Given the description of an element on the screen output the (x, y) to click on. 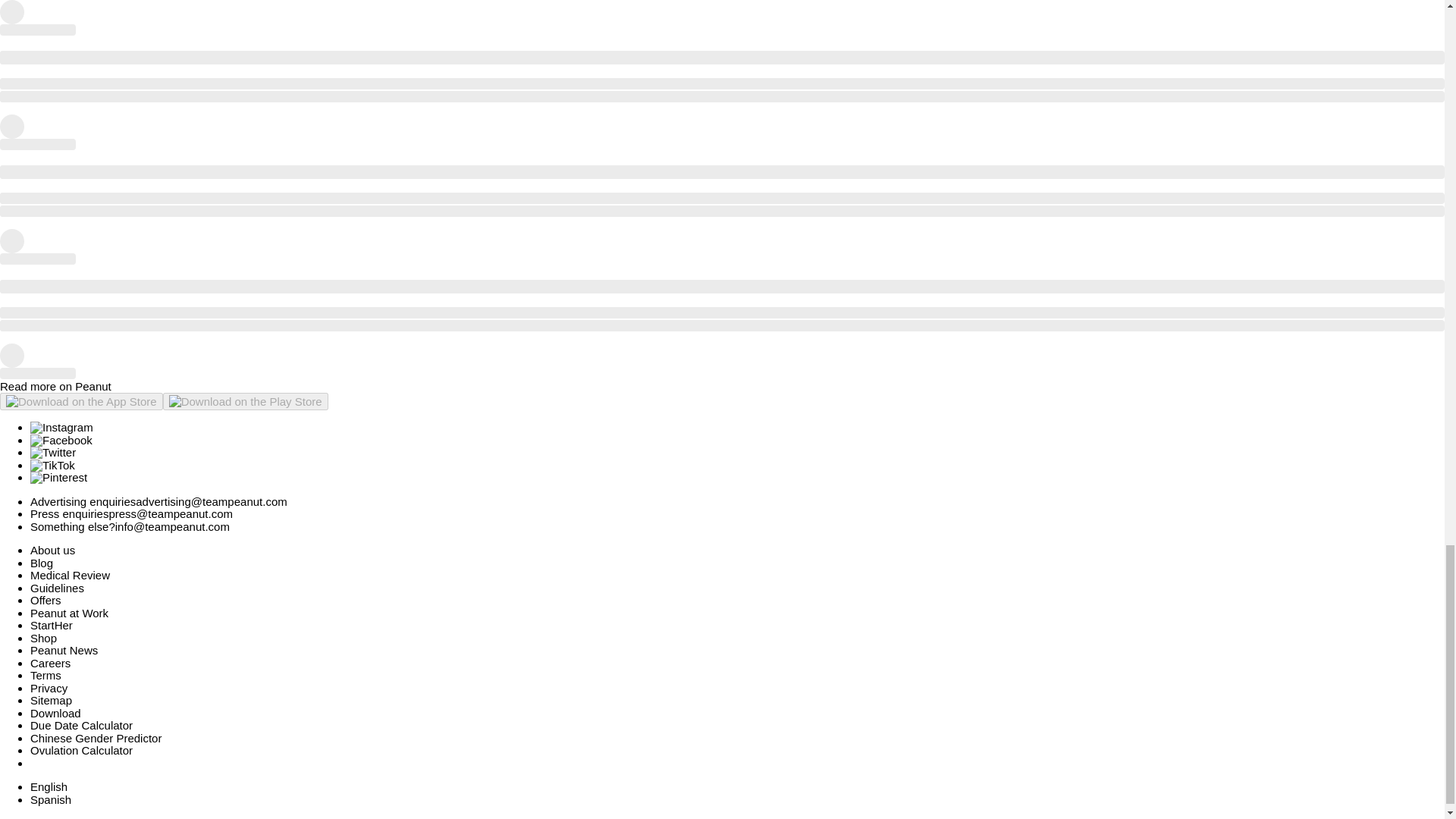
Read more on Peanut (56, 386)
